Given the description of an element on the screen output the (x, y) to click on. 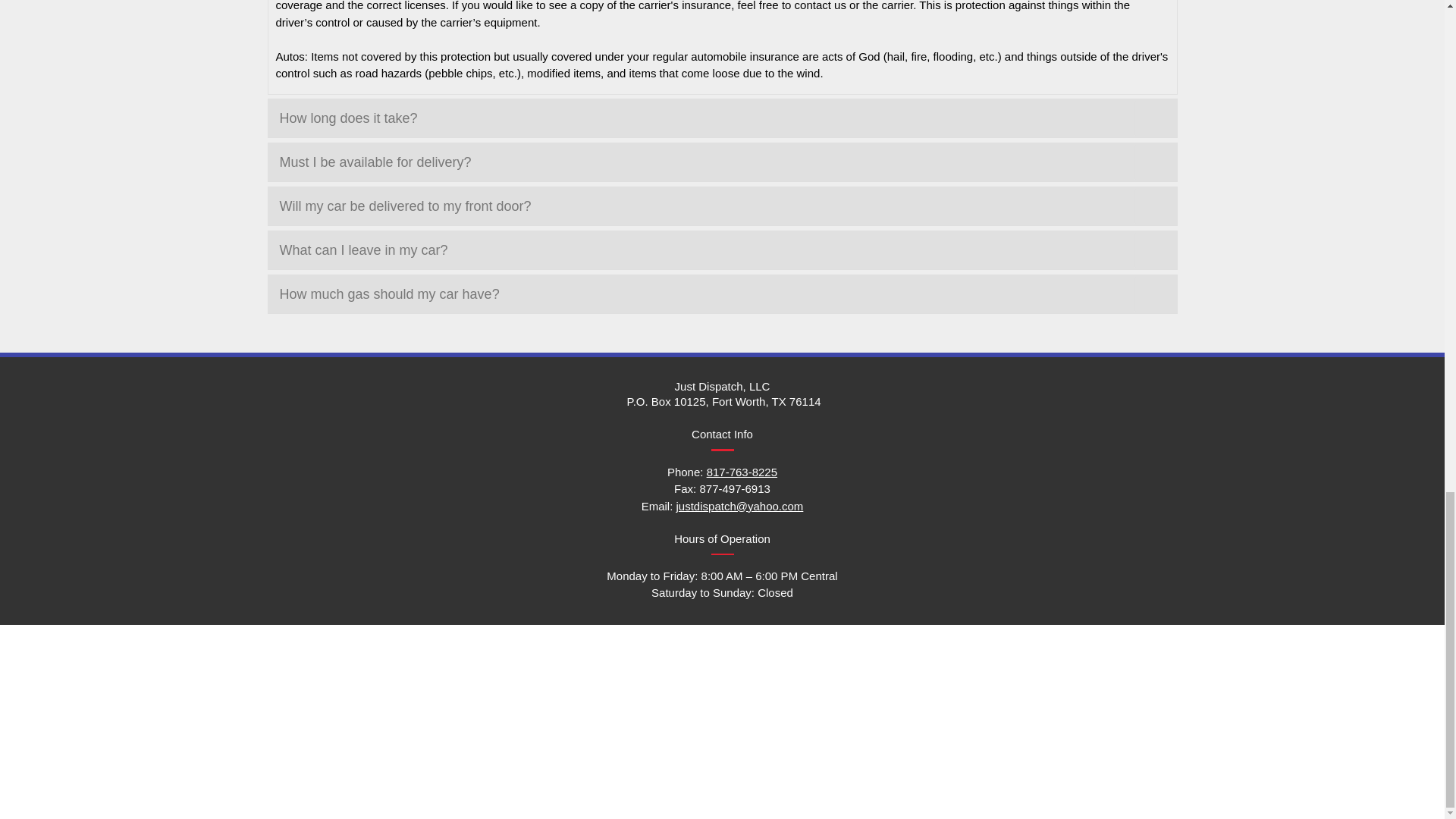
What can I leave in my car? (707, 250)
Must I be available for delivery? (707, 161)
How long does it take? (707, 118)
Will my car be delivered to my front door? (707, 205)
Divider (722, 553)
Divider (722, 449)
817-763-8225 (741, 471)
How much gas should my car have? (707, 294)
